Given the description of an element on the screen output the (x, y) to click on. 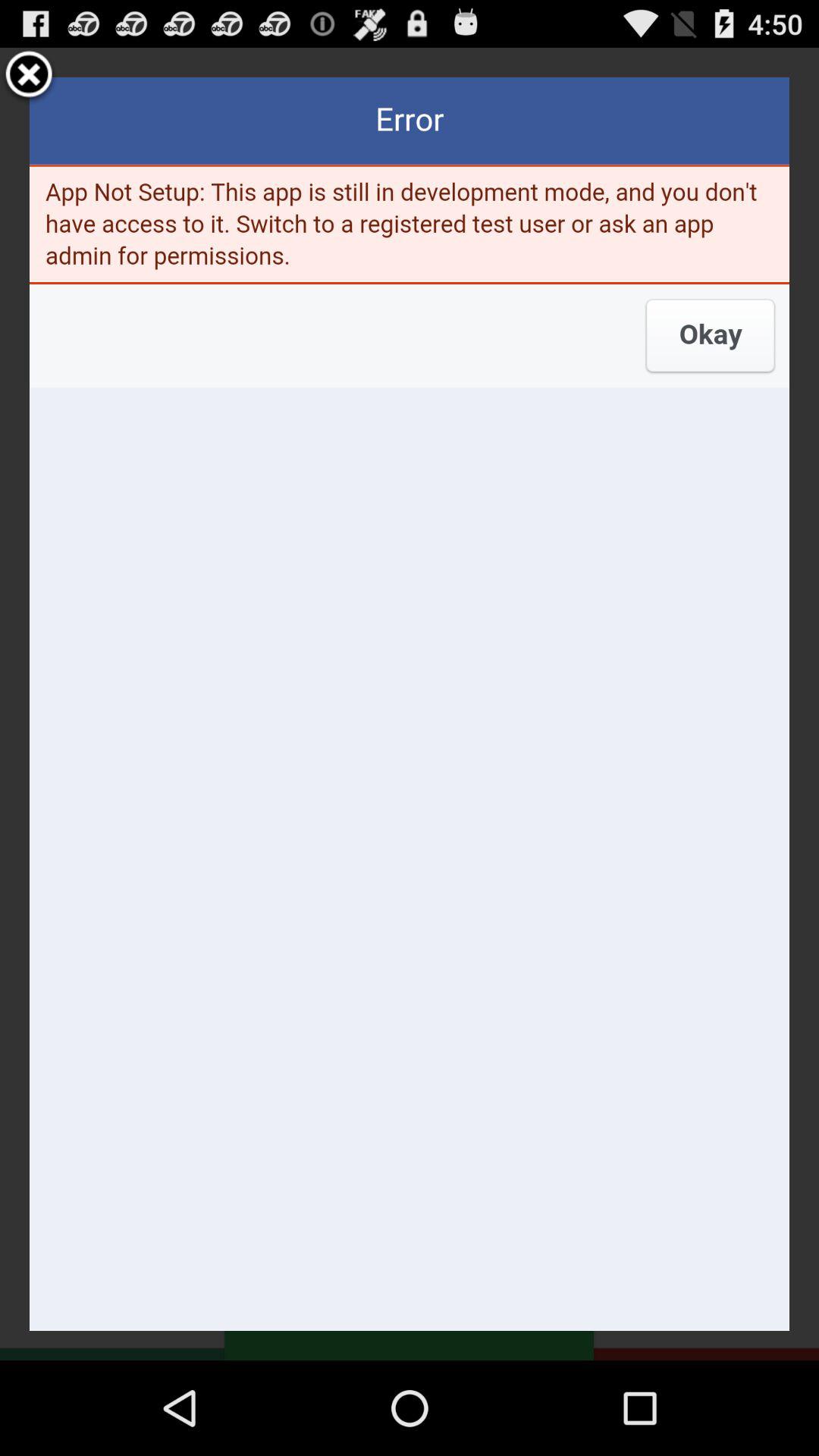
error screen (409, 703)
